Given the description of an element on the screen output the (x, y) to click on. 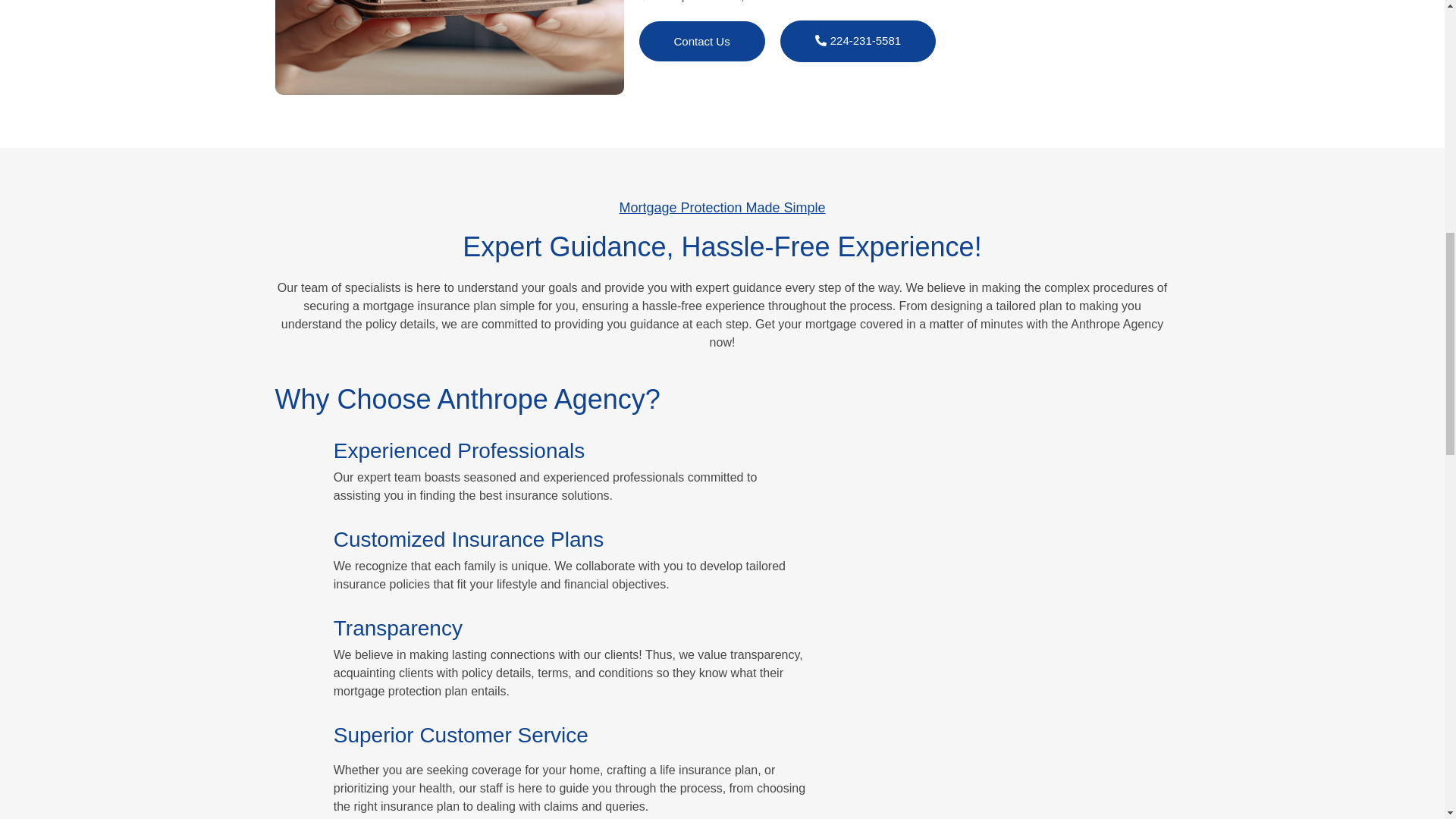
224-231-5581 (858, 41)
Contact Us (701, 41)
